Given the description of an element on the screen output the (x, y) to click on. 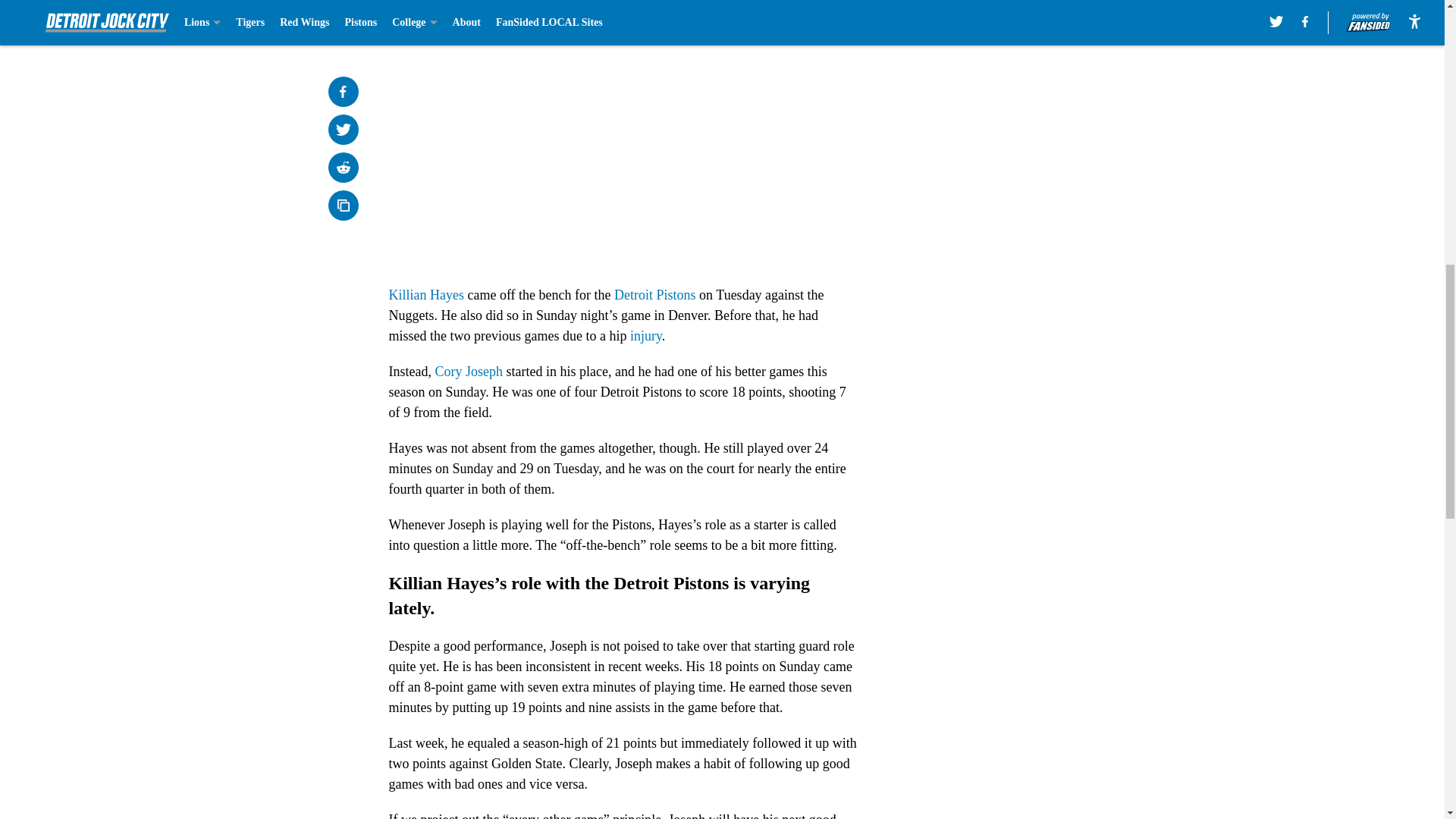
injury (646, 335)
Killian Hayes (425, 294)
Cory Joseph (467, 371)
Detroit Pistons (654, 294)
